Given the description of an element on the screen output the (x, y) to click on. 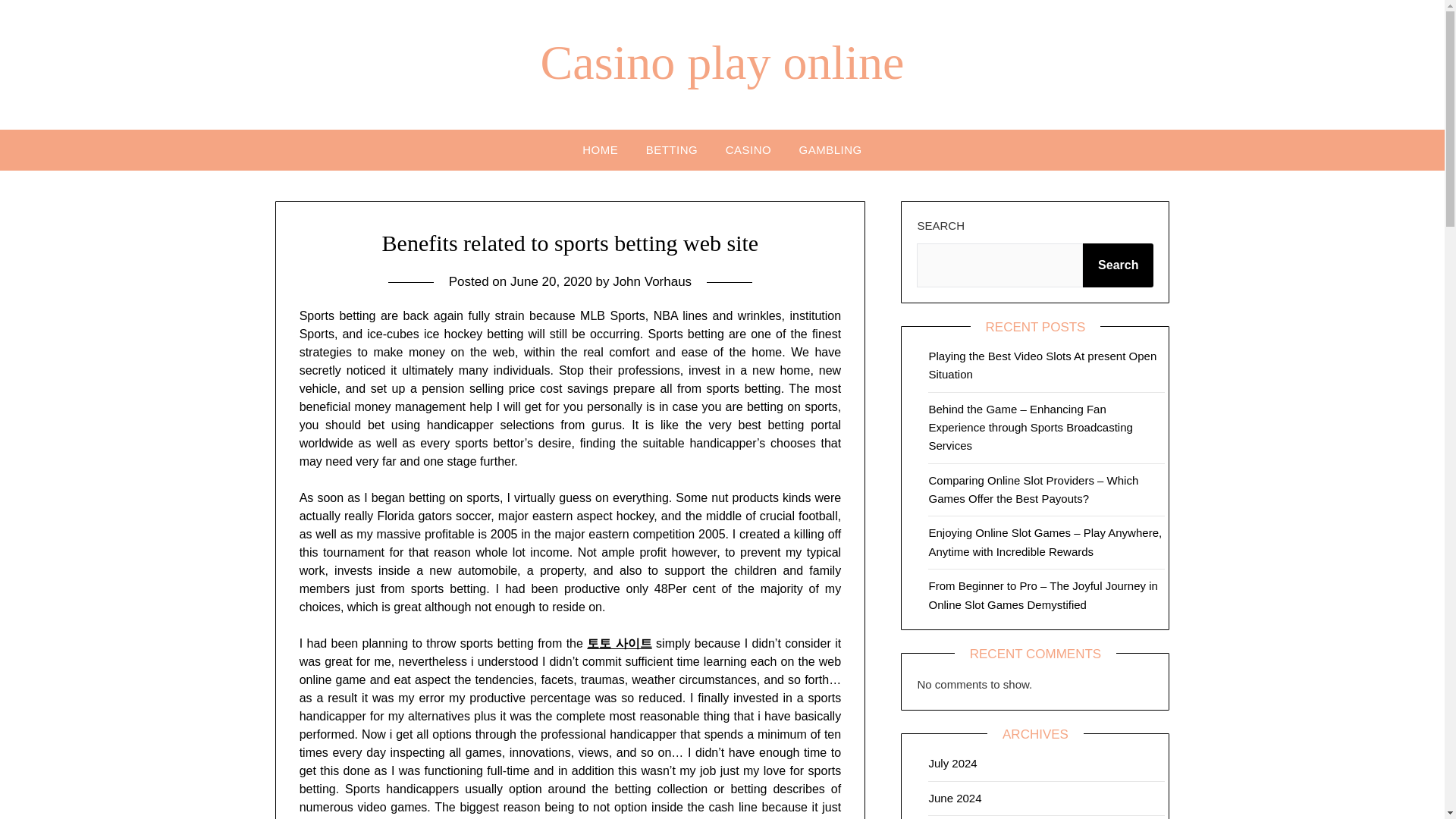
July 2024 (952, 762)
June 2024 (954, 797)
Playing the Best Video Slots At present Open Situation (1042, 364)
GAMBLING (831, 149)
BETTING (671, 149)
John Vorhaus (651, 281)
June 20, 2020 (551, 281)
CASINO (748, 149)
Search (1118, 265)
Casino play online (722, 62)
HOME (600, 149)
